Given the description of an element on the screen output the (x, y) to click on. 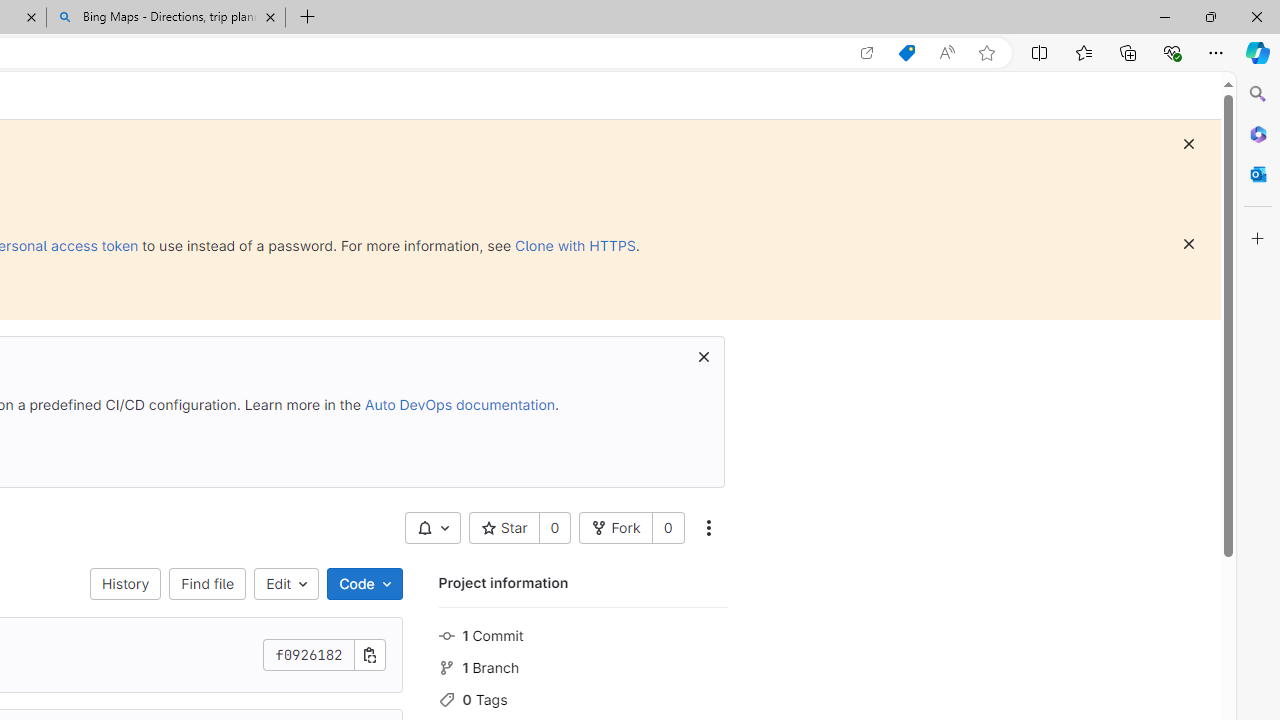
Edit (286, 583)
More actions (708, 527)
0 (667, 527)
0 Tags (582, 698)
Fork (615, 527)
History (125, 583)
Dismiss (1188, 243)
1 Commit (582, 633)
